Given the description of an element on the screen output the (x, y) to click on. 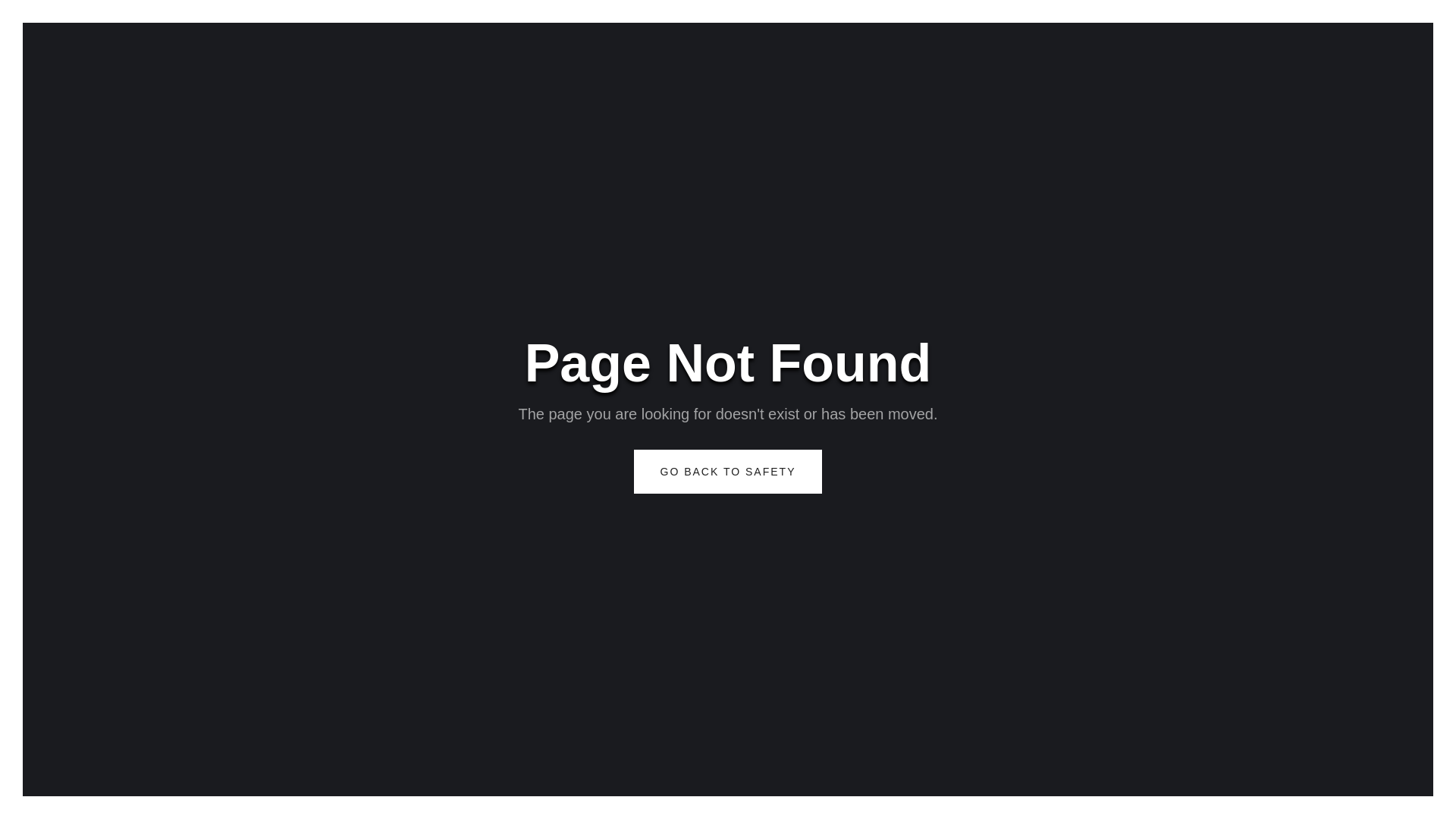
GO BACK TO SAFETY Element type: text (727, 471)
